Given the description of an element on the screen output the (x, y) to click on. 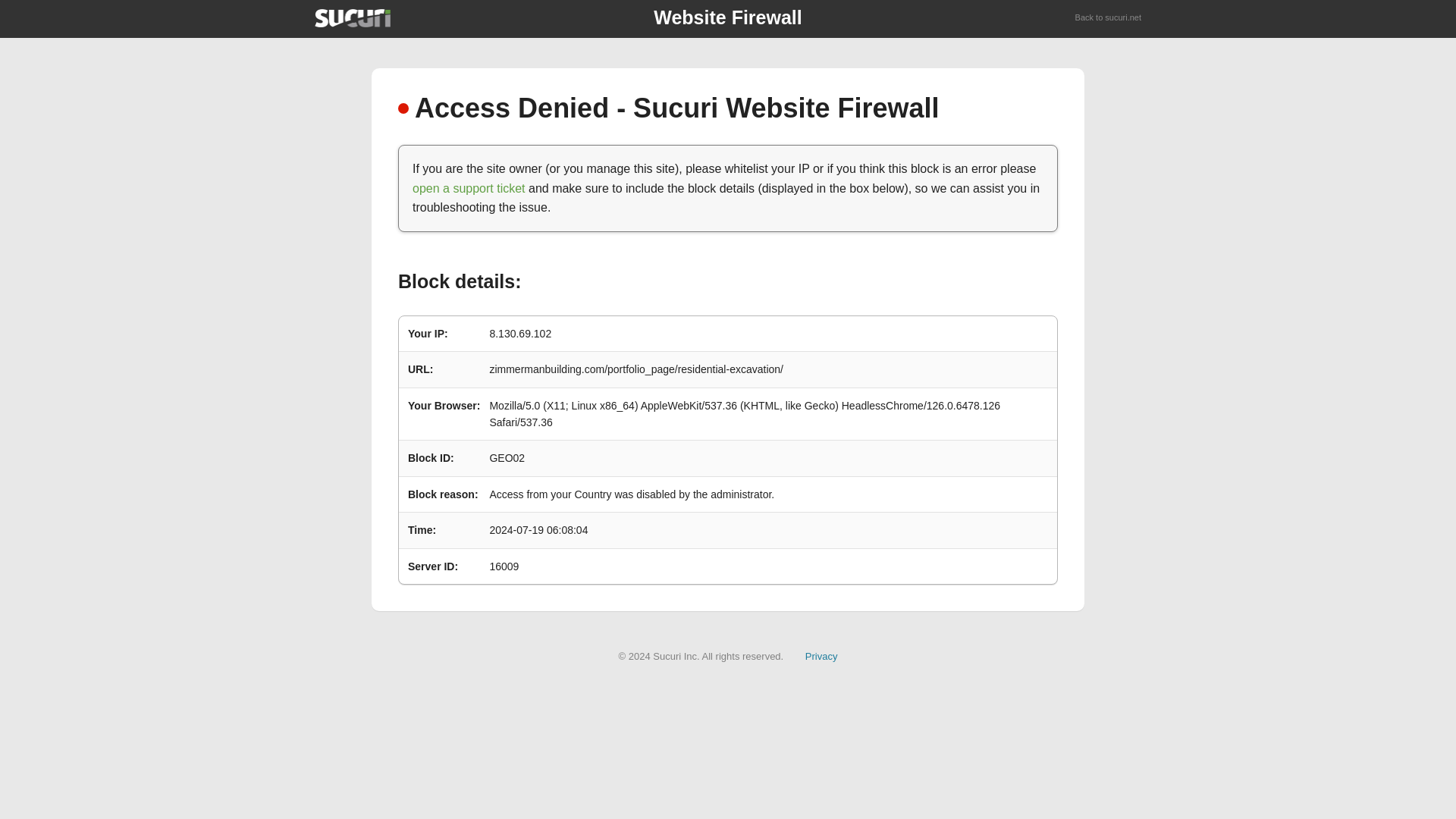
open a support ticket (468, 187)
Back to sucuri.net (1108, 18)
Privacy (821, 655)
